Given the description of an element on the screen output the (x, y) to click on. 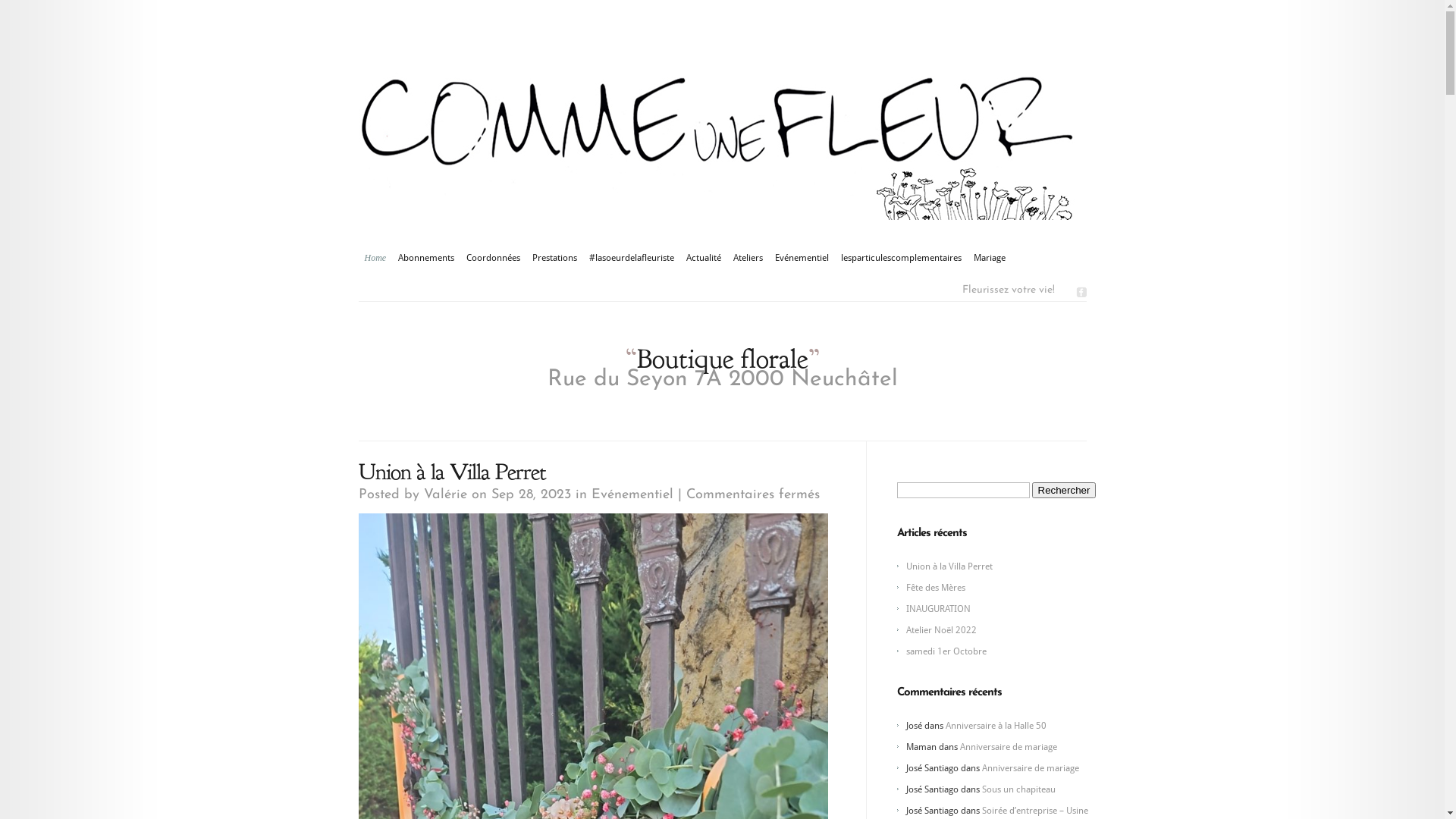
Anniversaire de mariage Element type: text (1008, 746)
Anniversaire de mariage Element type: text (1029, 767)
Mariage Element type: text (989, 257)
Prestations Element type: text (554, 257)
INAUGURATION Element type: text (937, 608)
samedi 1er Octobre Element type: text (945, 651)
Rechercher Element type: text (1063, 490)
Home Element type: text (374, 257)
Sous un chapiteau Element type: text (1017, 789)
Abonnements Element type: text (426, 257)
#lasoeurdelafleuriste Element type: text (631, 257)
lesparticulescomplementaires Element type: text (900, 257)
Ateliers Element type: text (747, 257)
